Given the description of an element on the screen output the (x, y) to click on. 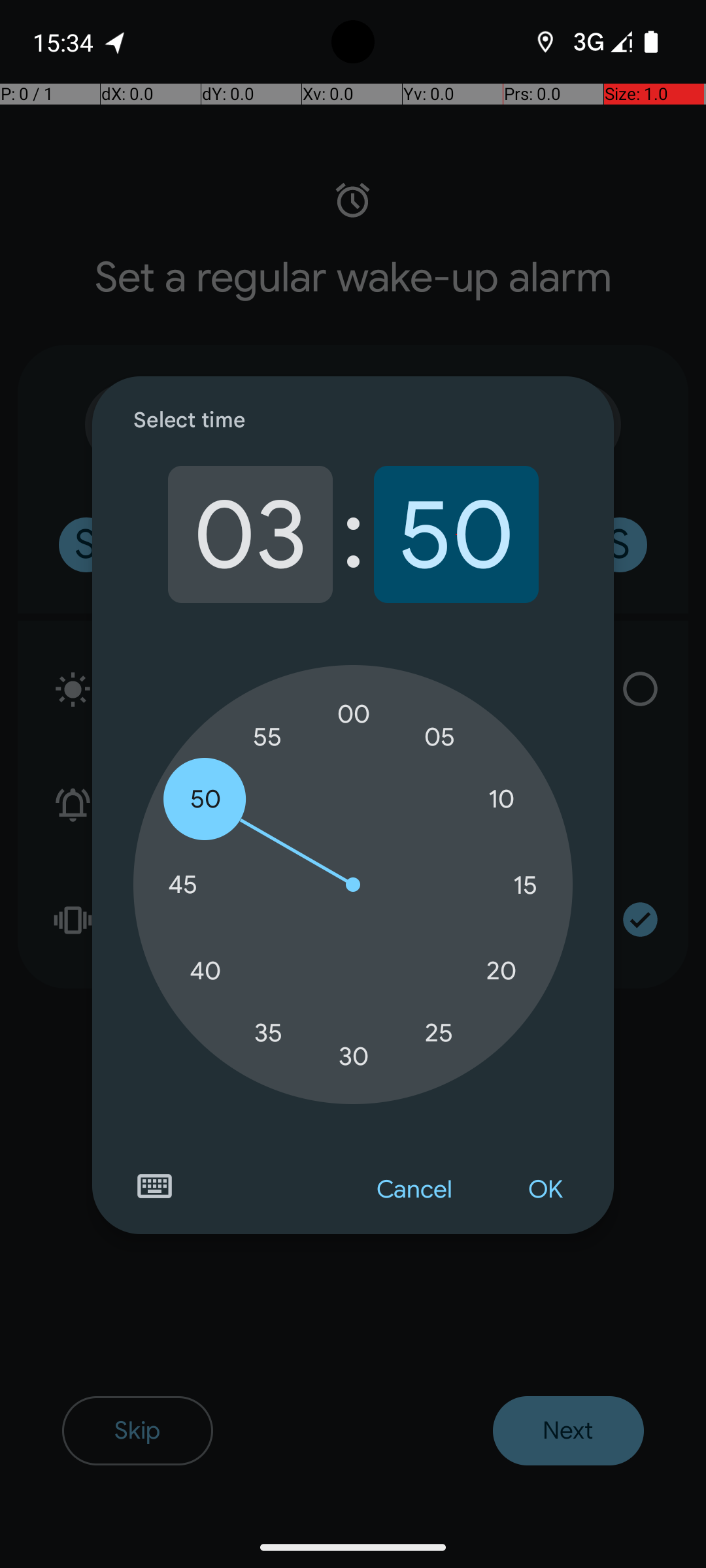
03 Element type: android.view.View (250, 534)
50 Element type: android.view.View (455, 534)
Switch to text input mode for the time input. Element type: android.widget.Button (154, 1186)
Cancel Element type: android.widget.Button (414, 1189)
55 Element type: android.widget.TextView (267, 736)
05 Element type: android.widget.TextView (439, 736)
10 Element type: android.widget.TextView (501, 798)
45 Element type: android.widget.TextView (182, 884)
15 Element type: android.widget.TextView (524, 885)
40 Element type: android.widget.TextView (205, 970)
35 Element type: android.widget.TextView (267, 1032)
30 Element type: android.widget.TextView (353, 1056)
25 Element type: android.widget.TextView (438, 1032)
20 Element type: android.widget.TextView (501, 970)
